Given the description of an element on the screen output the (x, y) to click on. 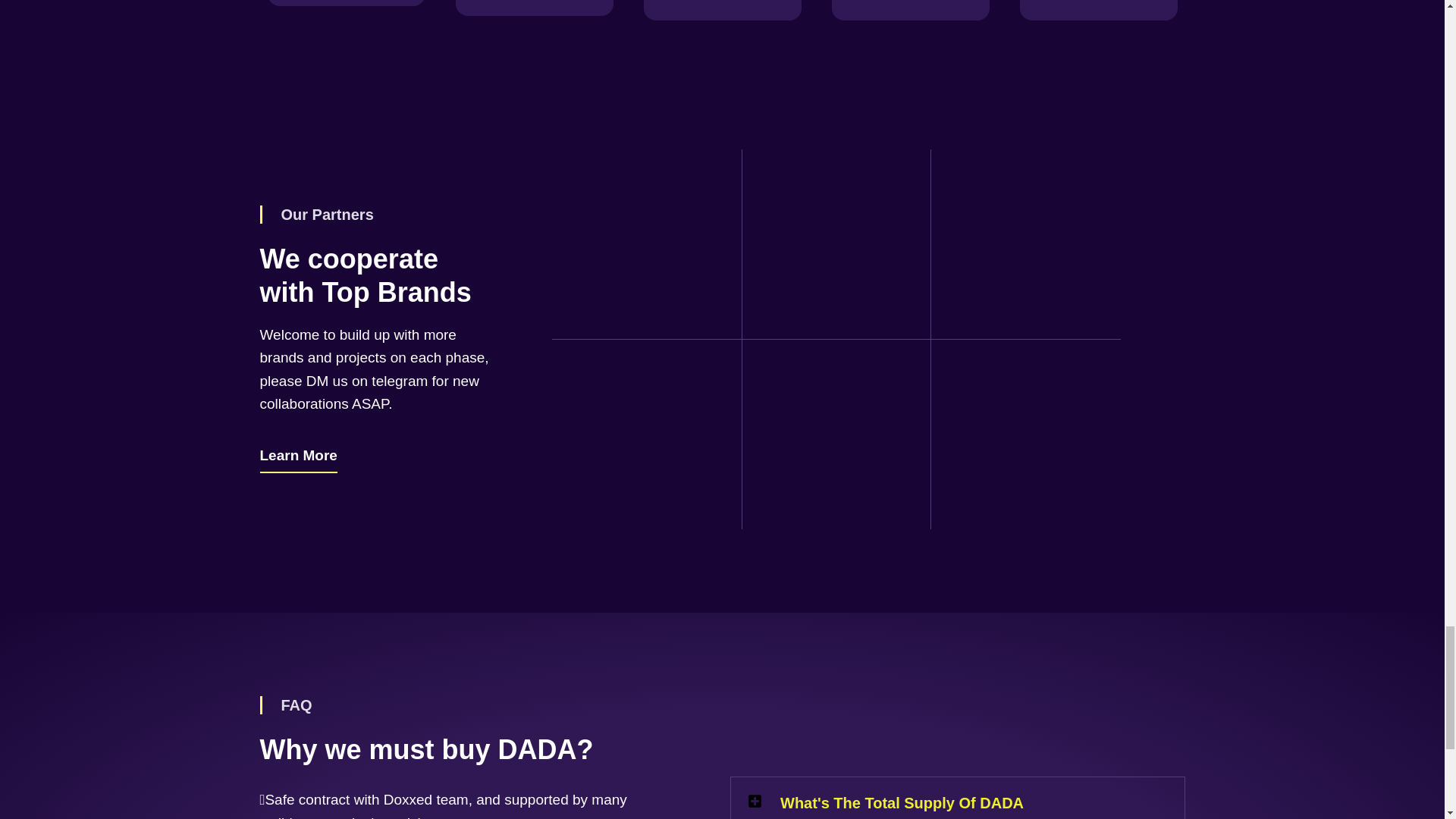
What'S The Total Supply Of DADA (901, 802)
Learn More (297, 457)
